Given the description of an element on the screen output the (x, y) to click on. 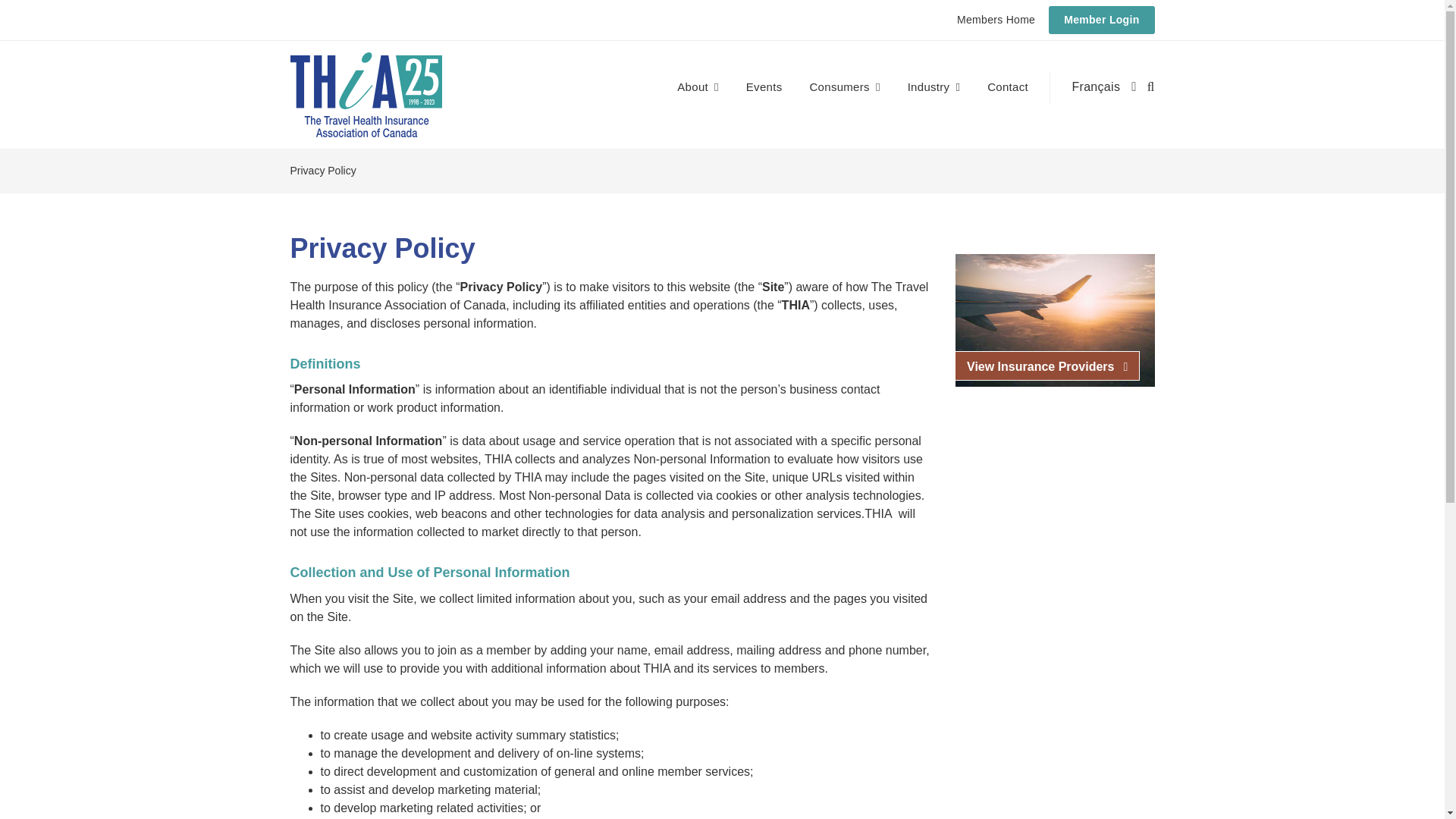
Industry (933, 87)
About (697, 87)
Events (764, 87)
Member Login (1101, 19)
Members Home (995, 19)
Consumers (844, 87)
